Given the description of an element on the screen output the (x, y) to click on. 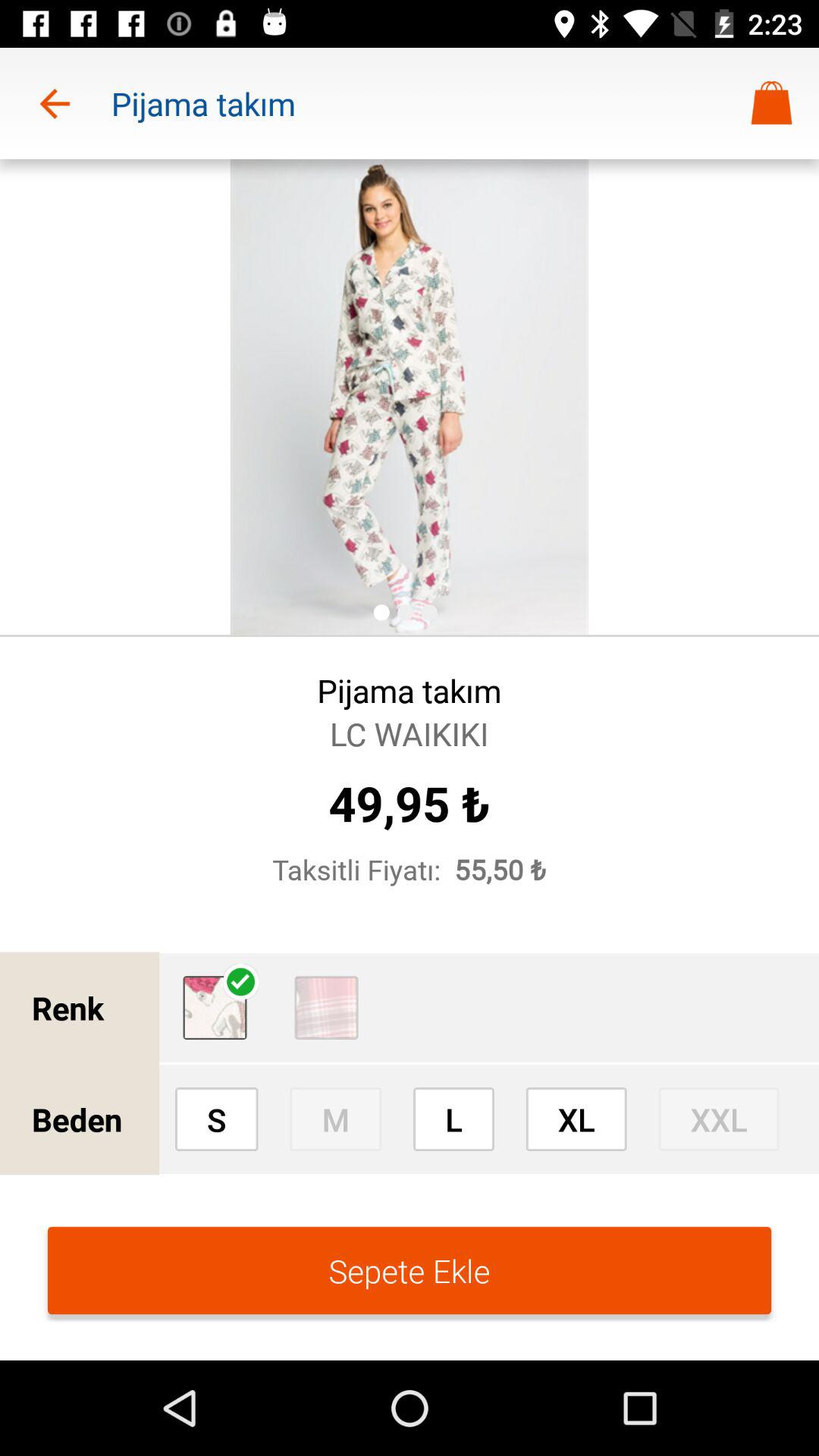
press the icon to the right of beden icon (216, 1119)
